Given the description of an element on the screen output the (x, y) to click on. 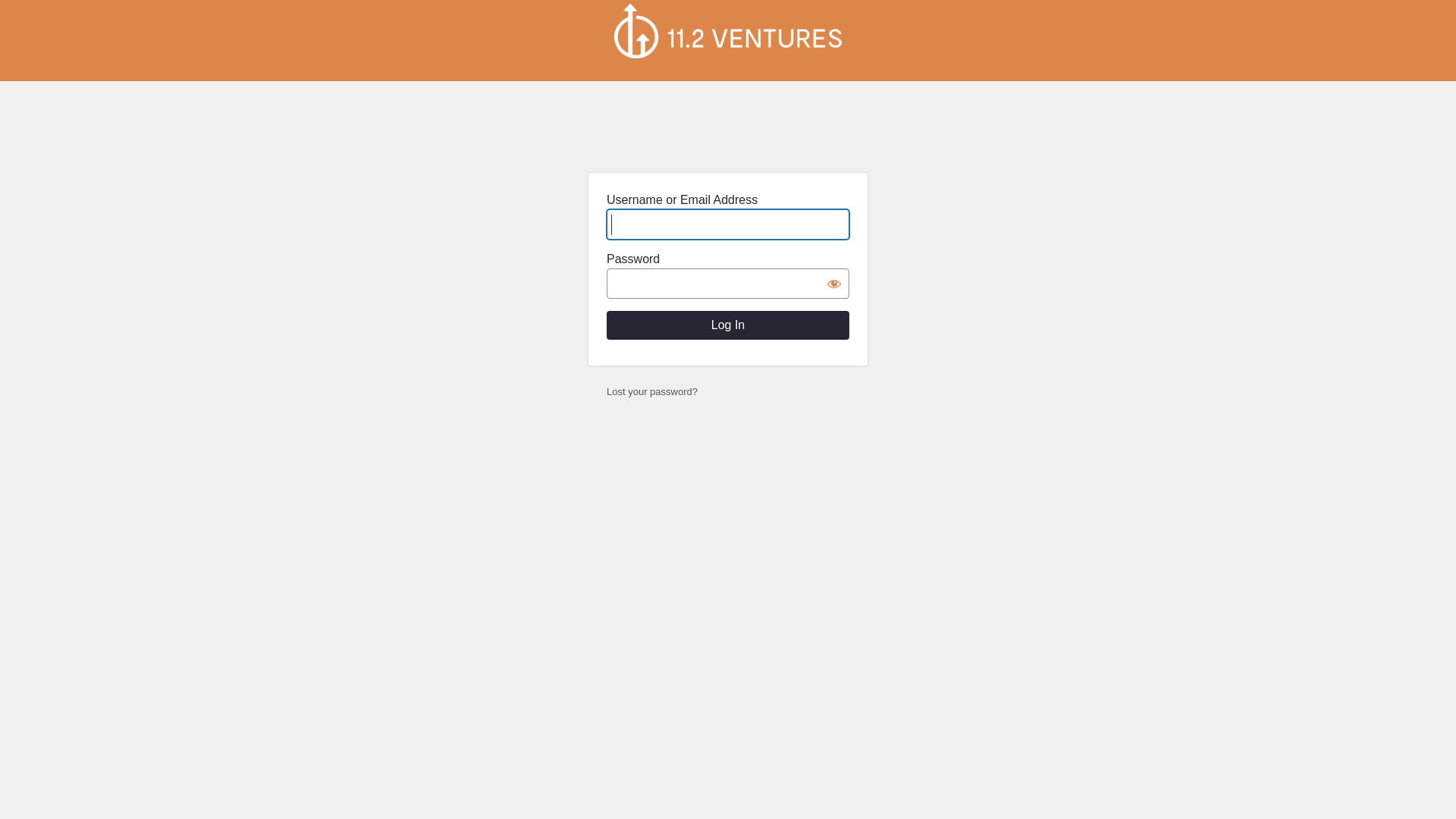
Powered by WordPress Element type: text (727, 30)
Log In Element type: text (727, 324)
Lost your password? Element type: text (651, 391)
